Given the description of an element on the screen output the (x, y) to click on. 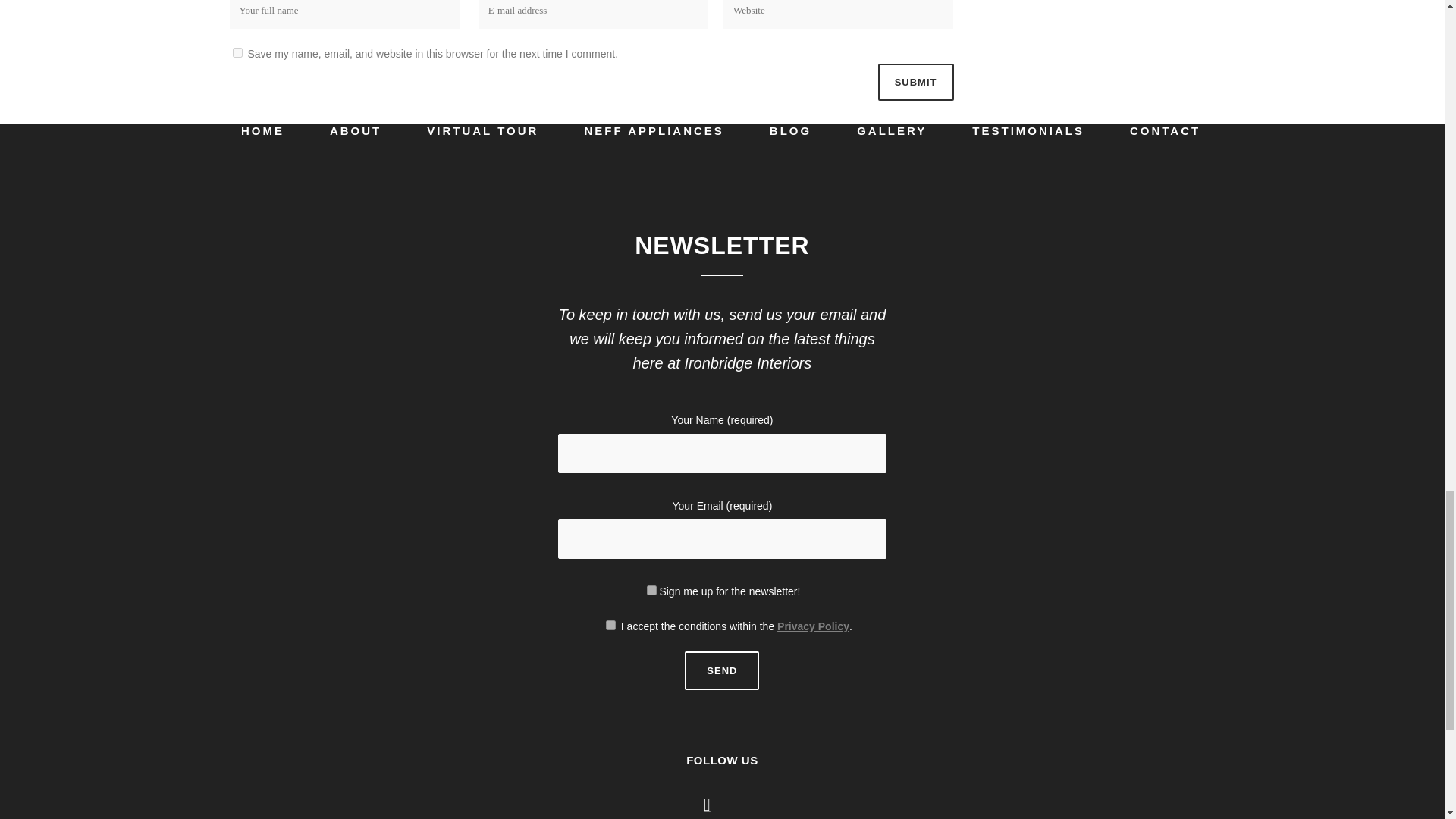
yes (236, 52)
Send (721, 670)
1 (610, 624)
Submit (915, 81)
1 (651, 590)
Submit (915, 81)
